Given the description of an element on the screen output the (x, y) to click on. 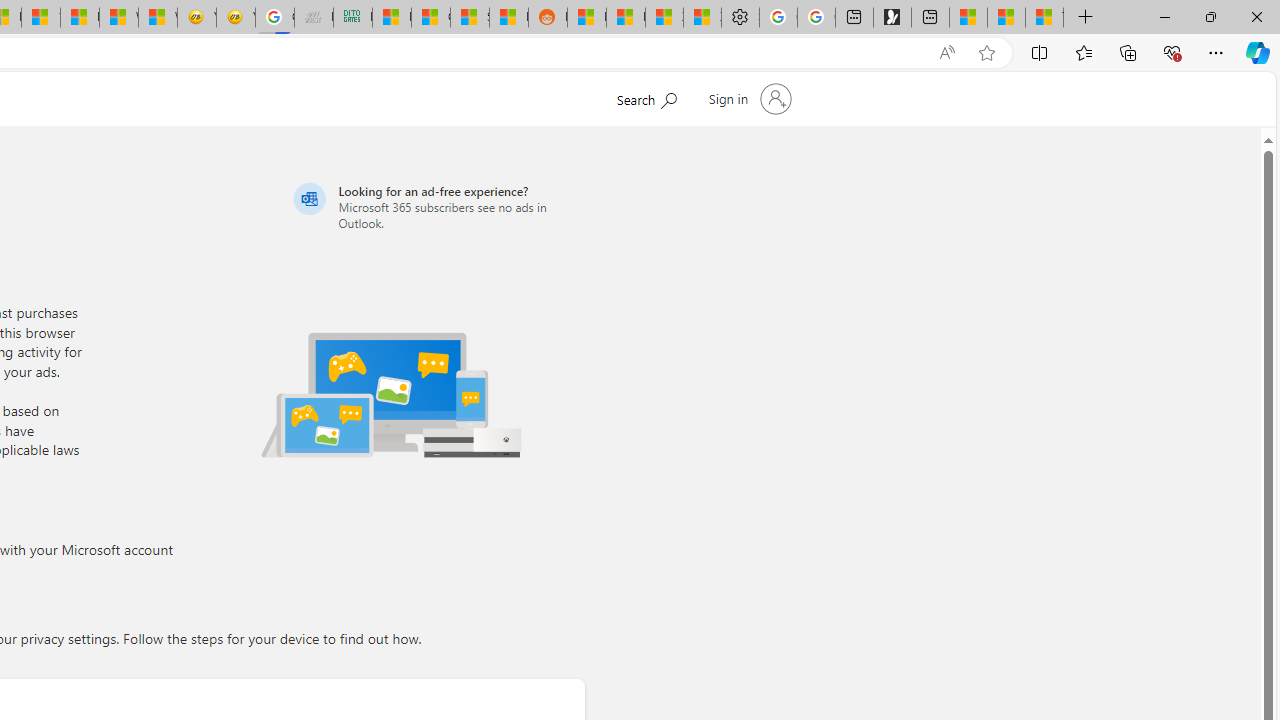
Restore (1210, 16)
Favorites (1083, 52)
Looking for an ad-free experience? (436, 206)
Close (1256, 16)
Copilot (Ctrl+Shift+.) (1258, 52)
Microsoft Start (1006, 17)
